Given the description of an element on the screen output the (x, y) to click on. 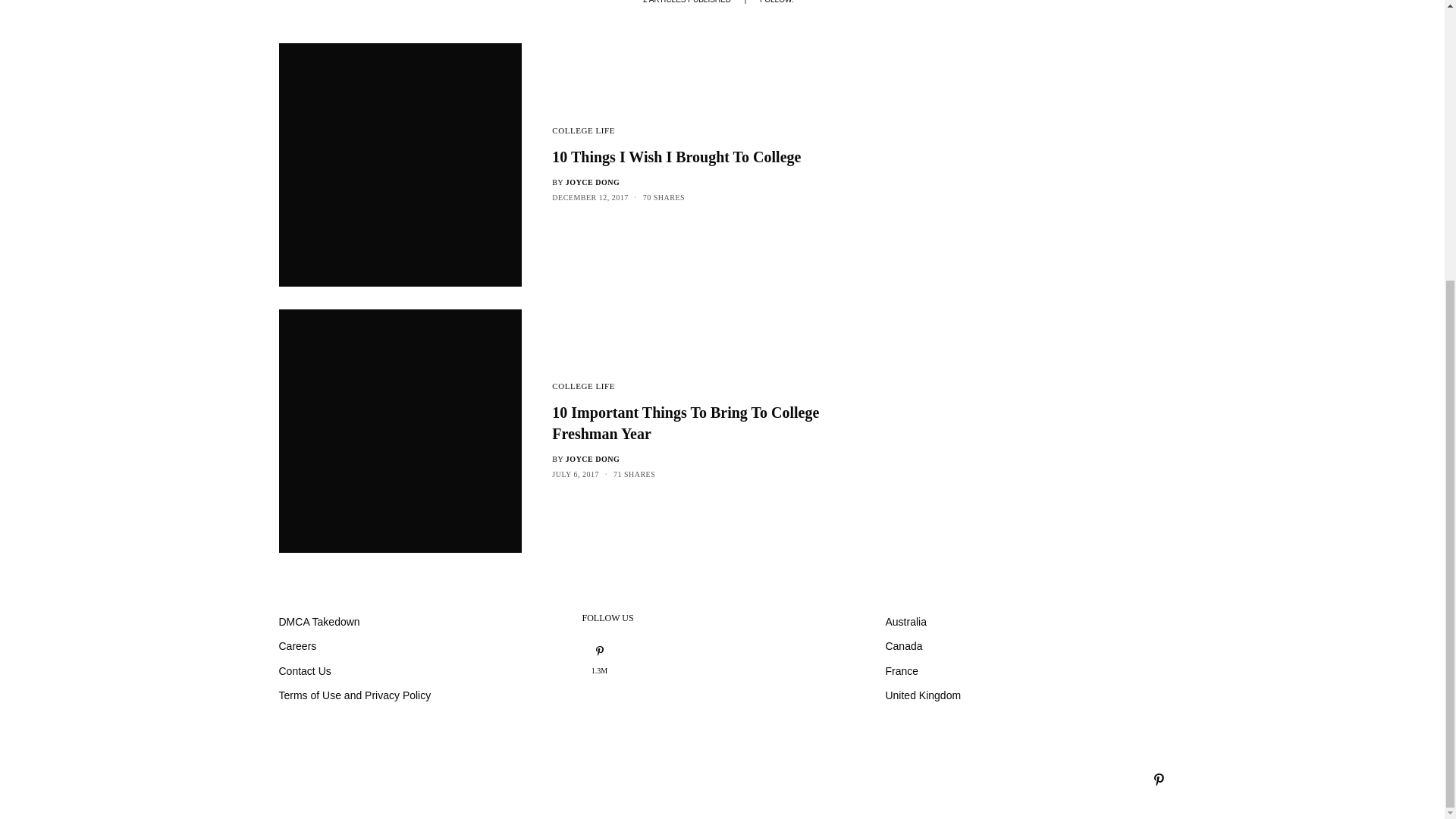
10 Things I Wish I Brought To College (706, 156)
Posts by Joyce Dong (593, 459)
10 Important Things To Bring To College Freshman Year (706, 423)
Posts by Joyce Dong (593, 182)
